Given the description of an element on the screen output the (x, y) to click on. 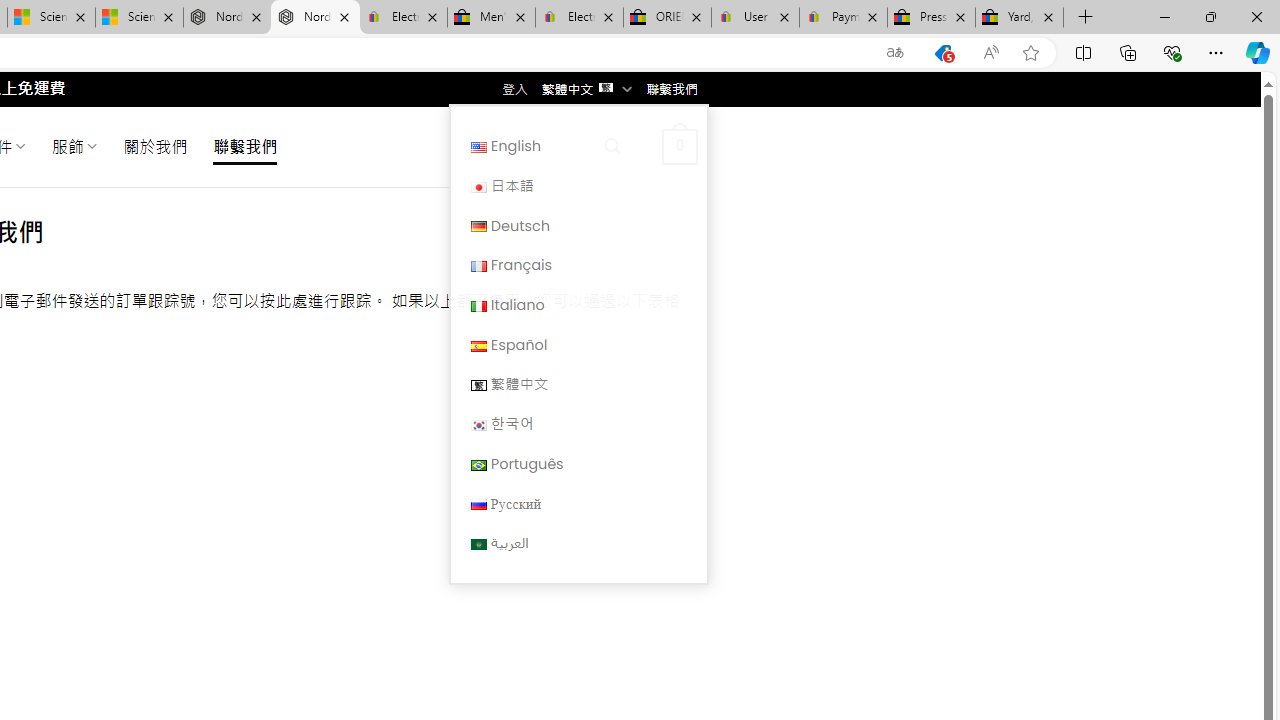
User Privacy Notice | eBay (754, 17)
English (478, 146)
